Given the description of an element on the screen output the (x, y) to click on. 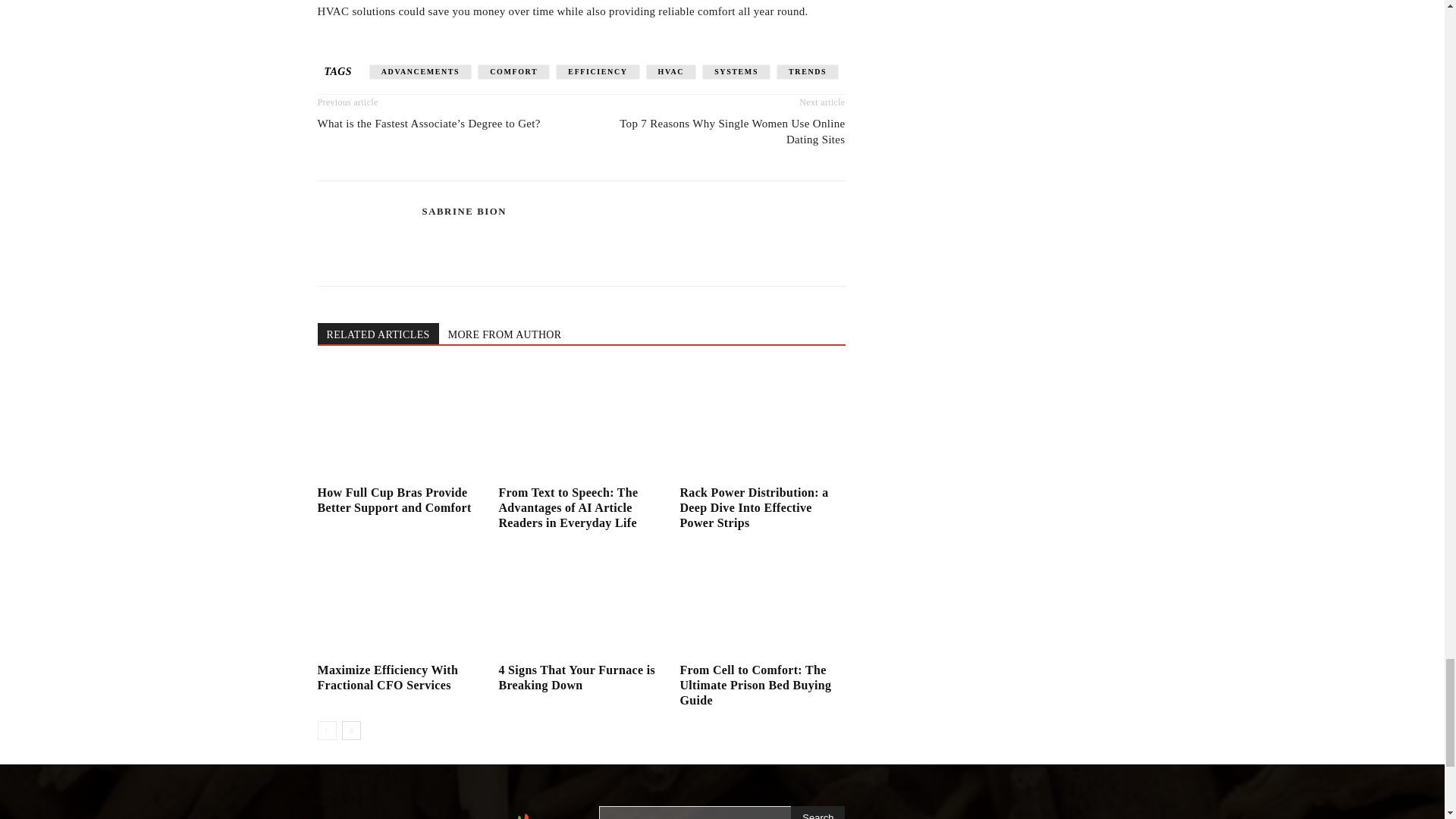
Search (817, 812)
How Full Cup Bras Provide Better Support and Comfort (399, 422)
How Full Cup Bras Provide Better Support and Comfort (393, 500)
